Given the description of an element on the screen output the (x, y) to click on. 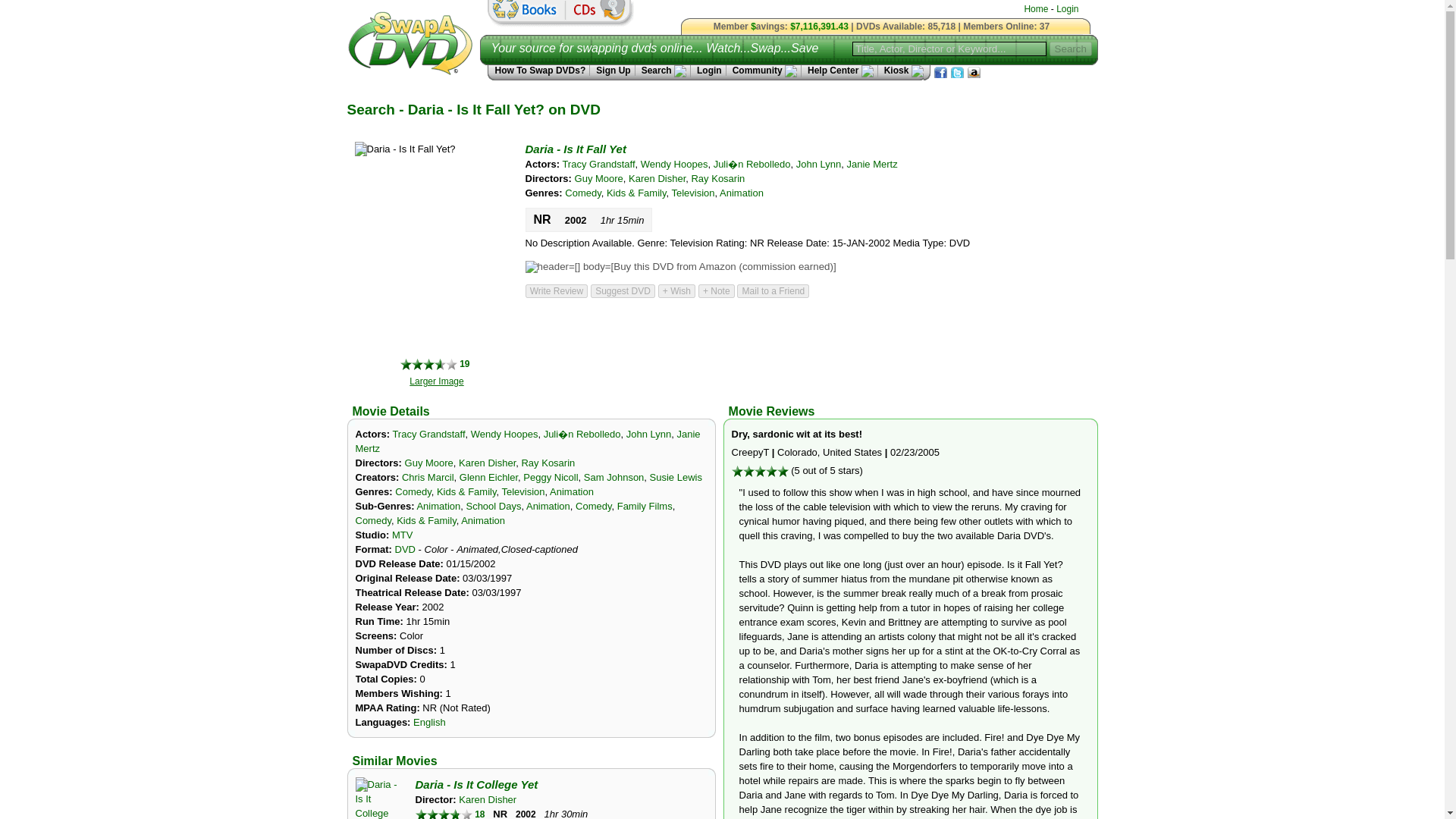
Home (1035, 9)
How To Swap DVDs? (538, 70)
Login (708, 70)
Suggest DVD (623, 291)
Write Review (556, 291)
Search (1070, 48)
Community (764, 70)
Mail to a Friend (772, 291)
Sign Up (611, 70)
Kiosk (900, 70)
